Given the description of an element on the screen output the (x, y) to click on. 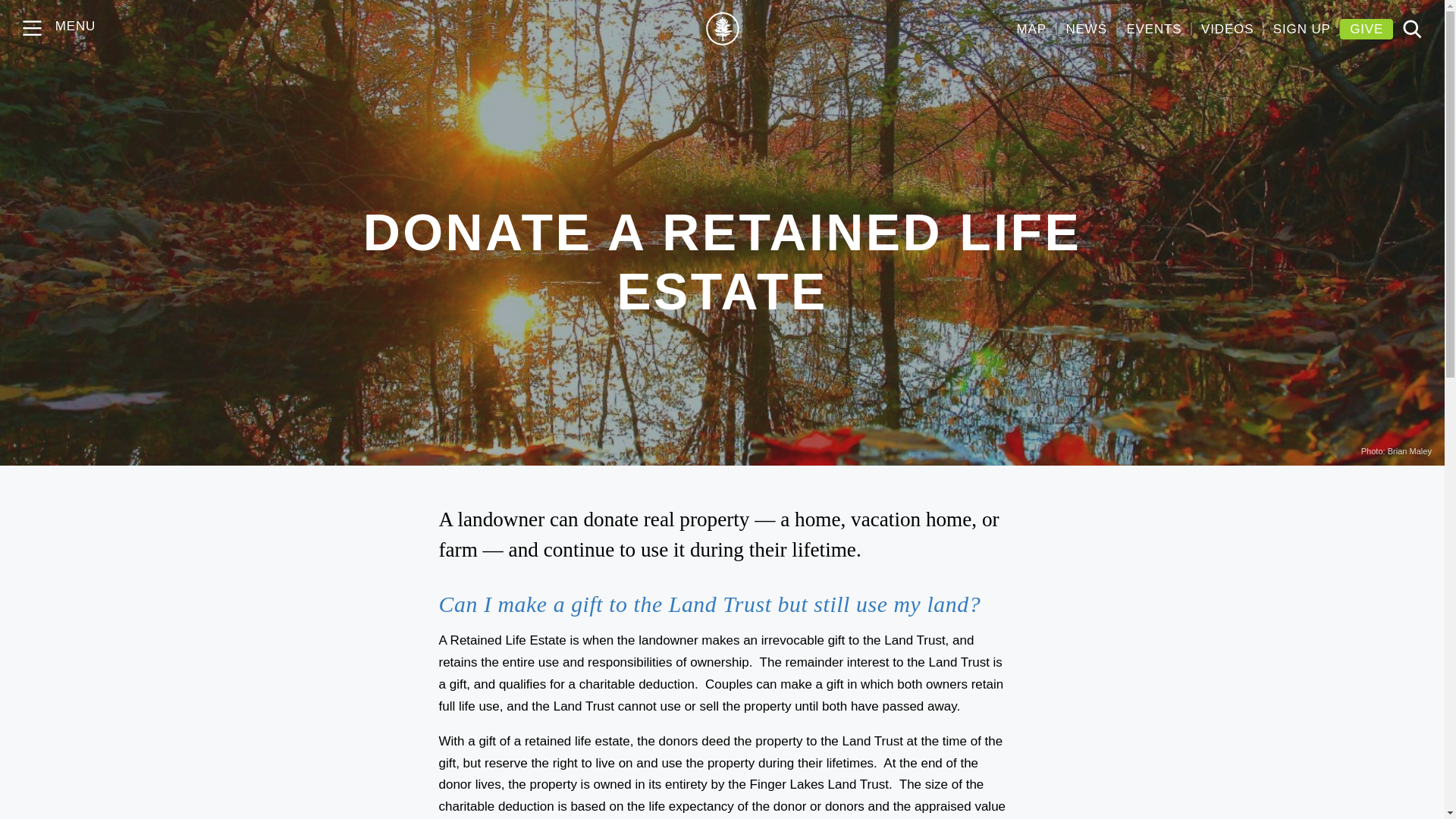
SIGN UP (1301, 28)
MAP (1031, 28)
Events (1227, 28)
See our Preserves (1031, 28)
Search the Site (1412, 28)
MENU (34, 28)
GIVE (1366, 28)
Events (1152, 28)
NEWS (1085, 28)
VIDEOS (1227, 28)
